Given the description of an element on the screen output the (x, y) to click on. 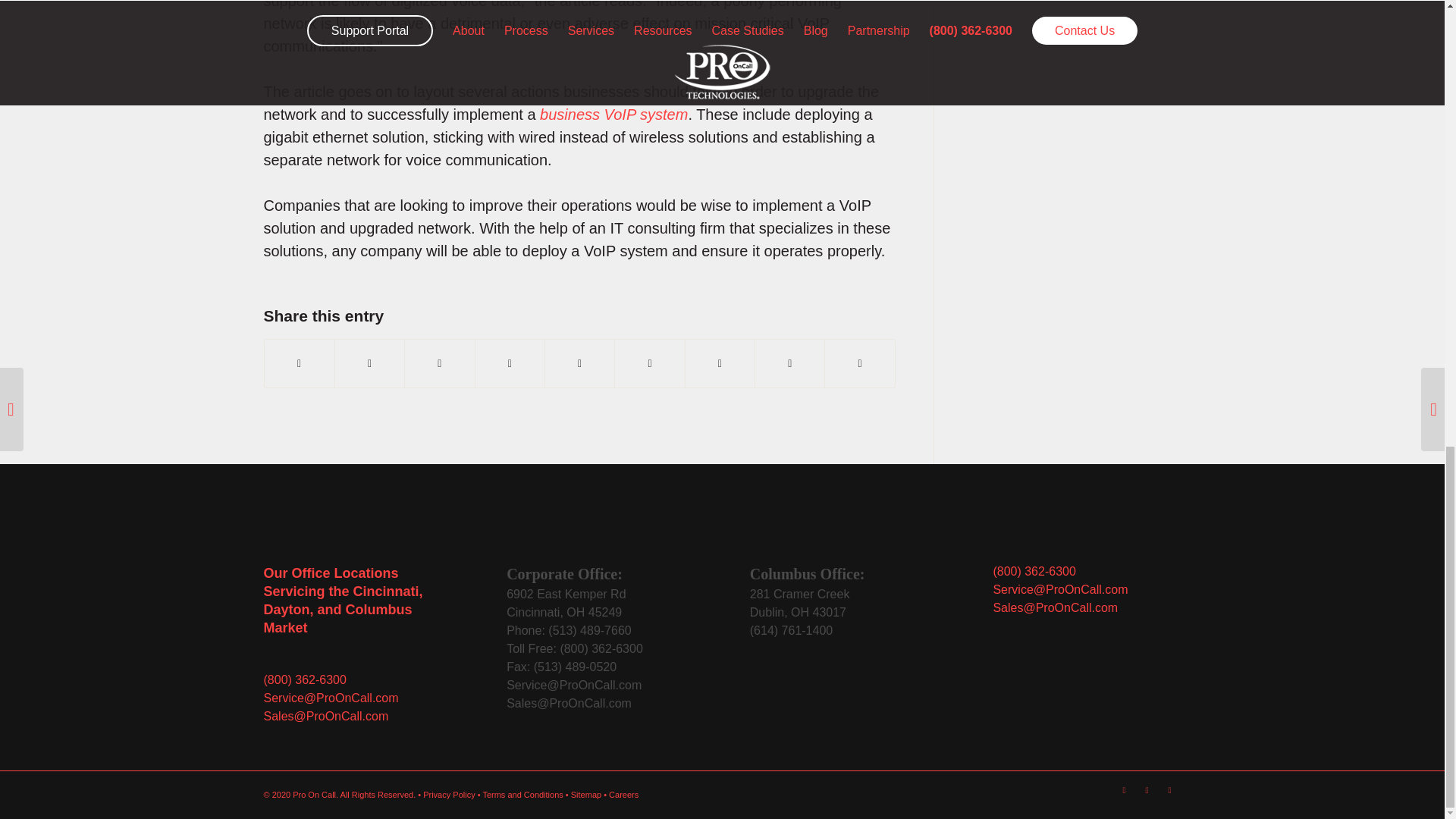
Linkedin (566, 603)
Twitter (1169, 789)
business VoIP system (1146, 789)
Facebook (613, 114)
